Given the description of an element on the screen output the (x, y) to click on. 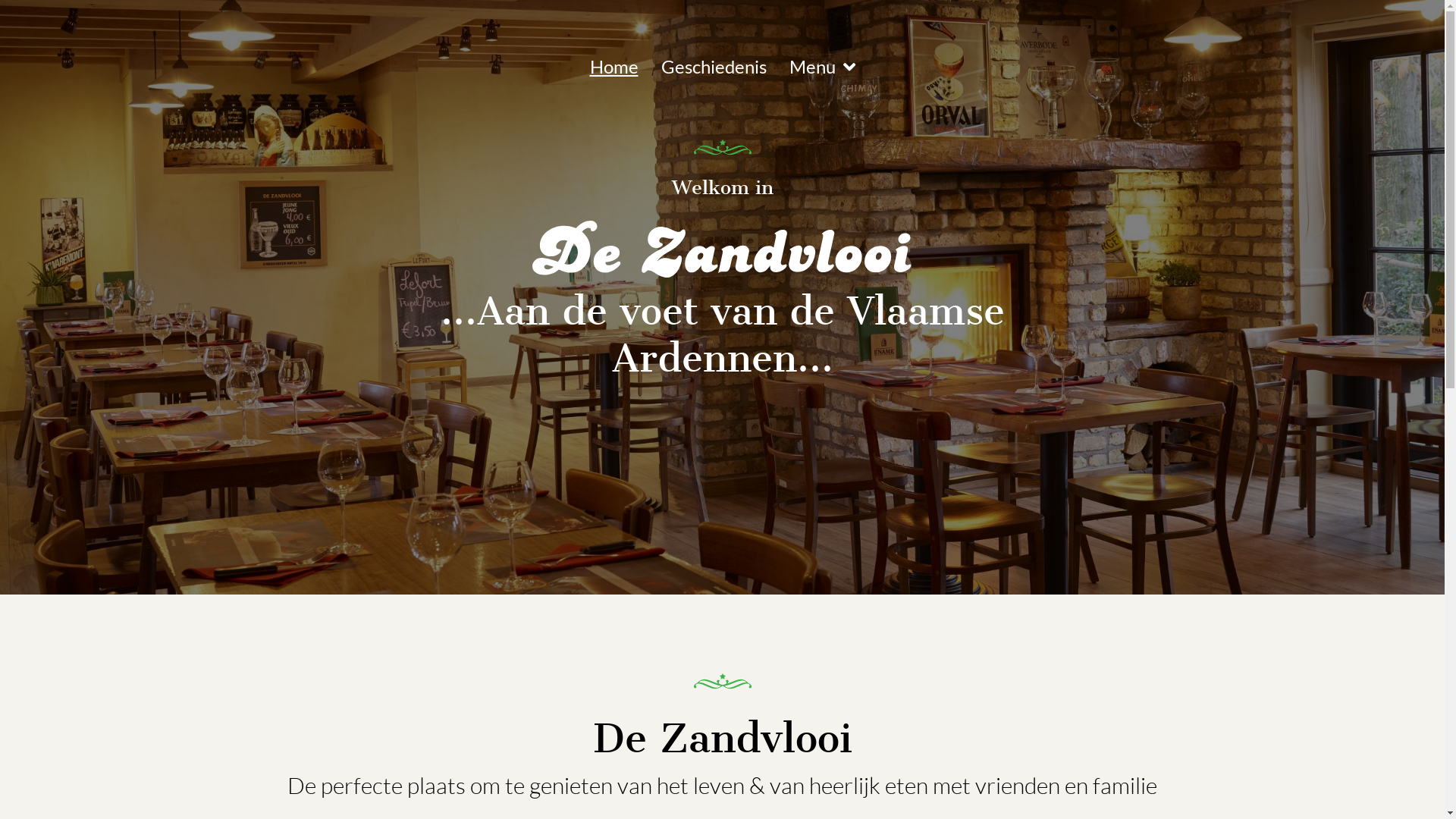
Menu Element type: text (822, 66)
Home Element type: text (613, 66)
Geschiedenis Element type: text (713, 66)
